Given the description of an element on the screen output the (x, y) to click on. 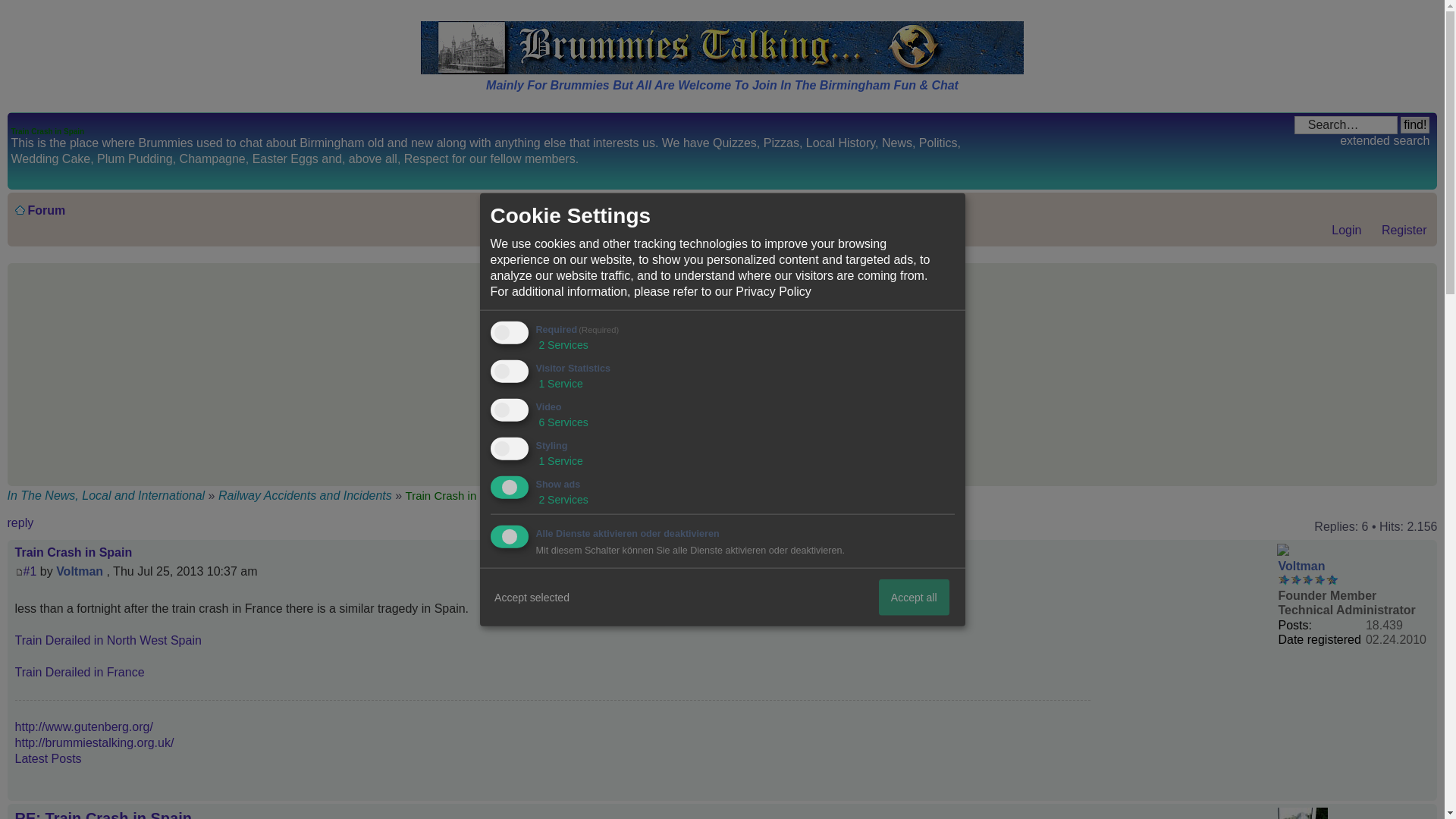
Voltman (79, 571)
RE: Train Crash in Spain (103, 814)
Latest Posts (47, 758)
Train Crash in Spain (30, 571)
reply (53, 525)
Train Derailed in France (79, 671)
Voltman (1301, 565)
Train Crash in Spain (73, 552)
Top (1425, 792)
Train Derailed in North West Spain (108, 640)
